Given the description of an element on the screen output the (x, y) to click on. 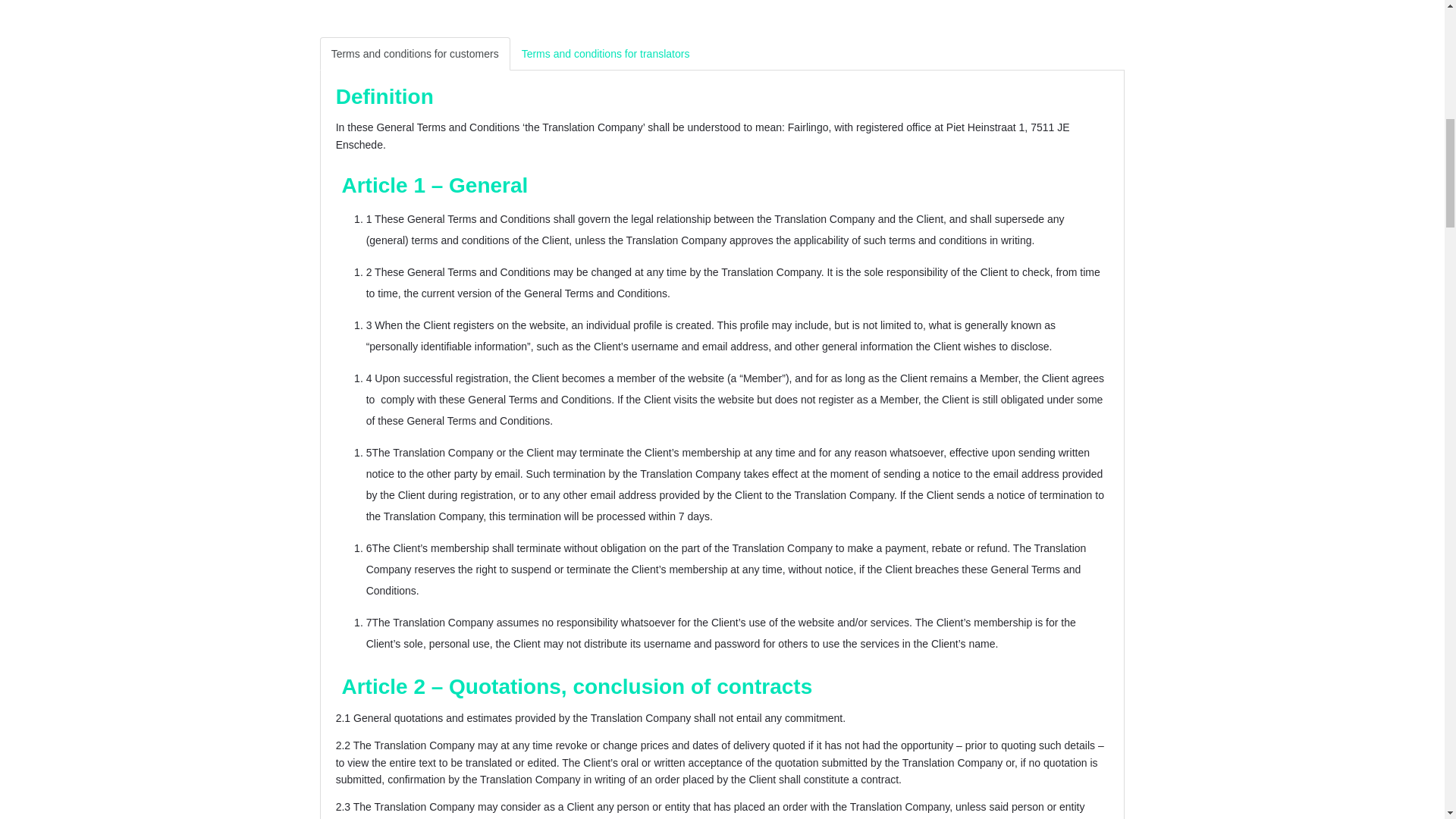
Terms and conditions for customers (415, 53)
Terms and conditions for translators (606, 53)
